Given the description of an element on the screen output the (x, y) to click on. 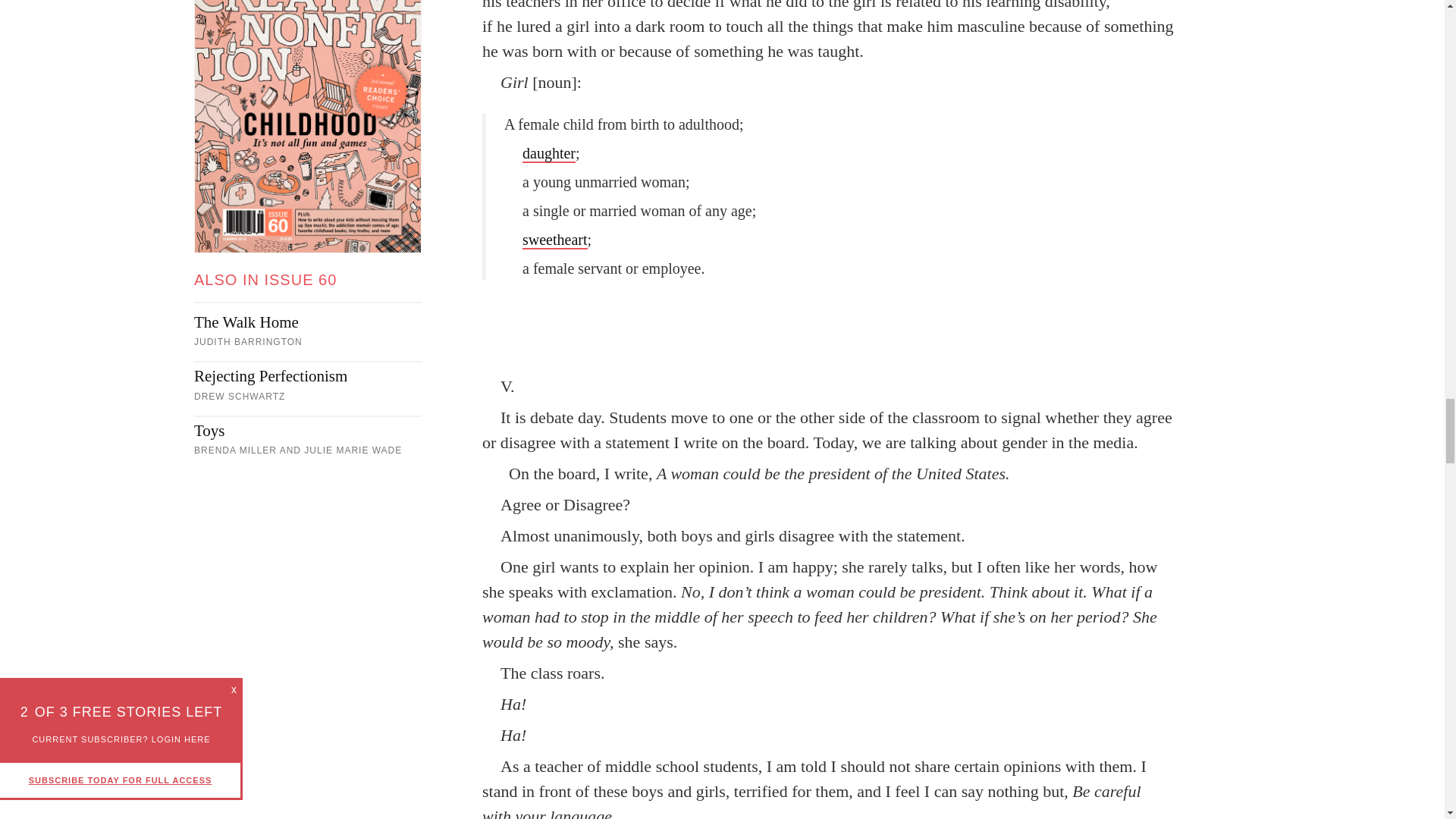
Rejecting Perfectionism (307, 375)
Issue 60 (307, 126)
The Walk Home (307, 322)
